Given the description of an element on the screen output the (x, y) to click on. 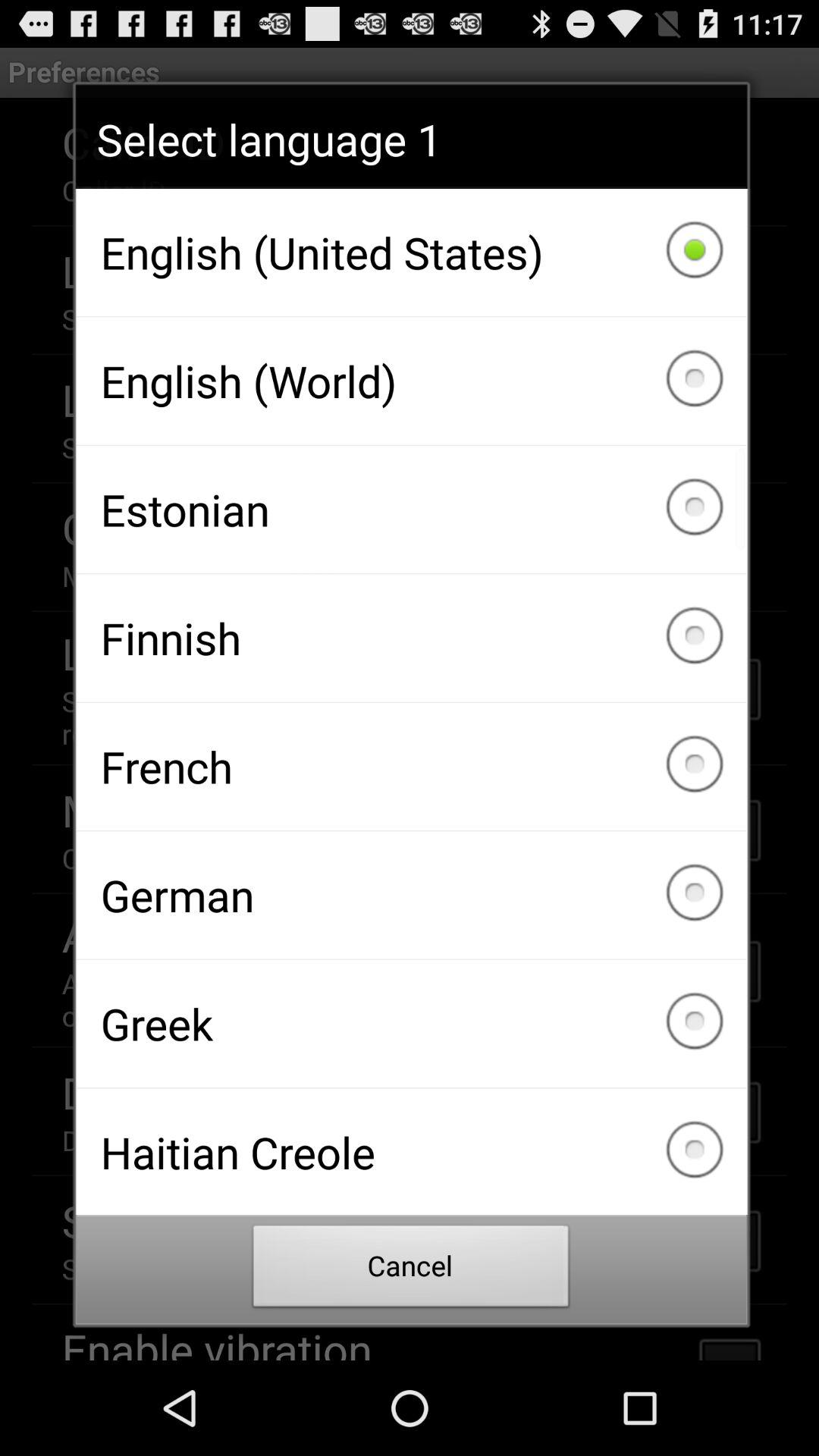
turn on the icon below haitian creole item (410, 1270)
